Given the description of an element on the screen output the (x, y) to click on. 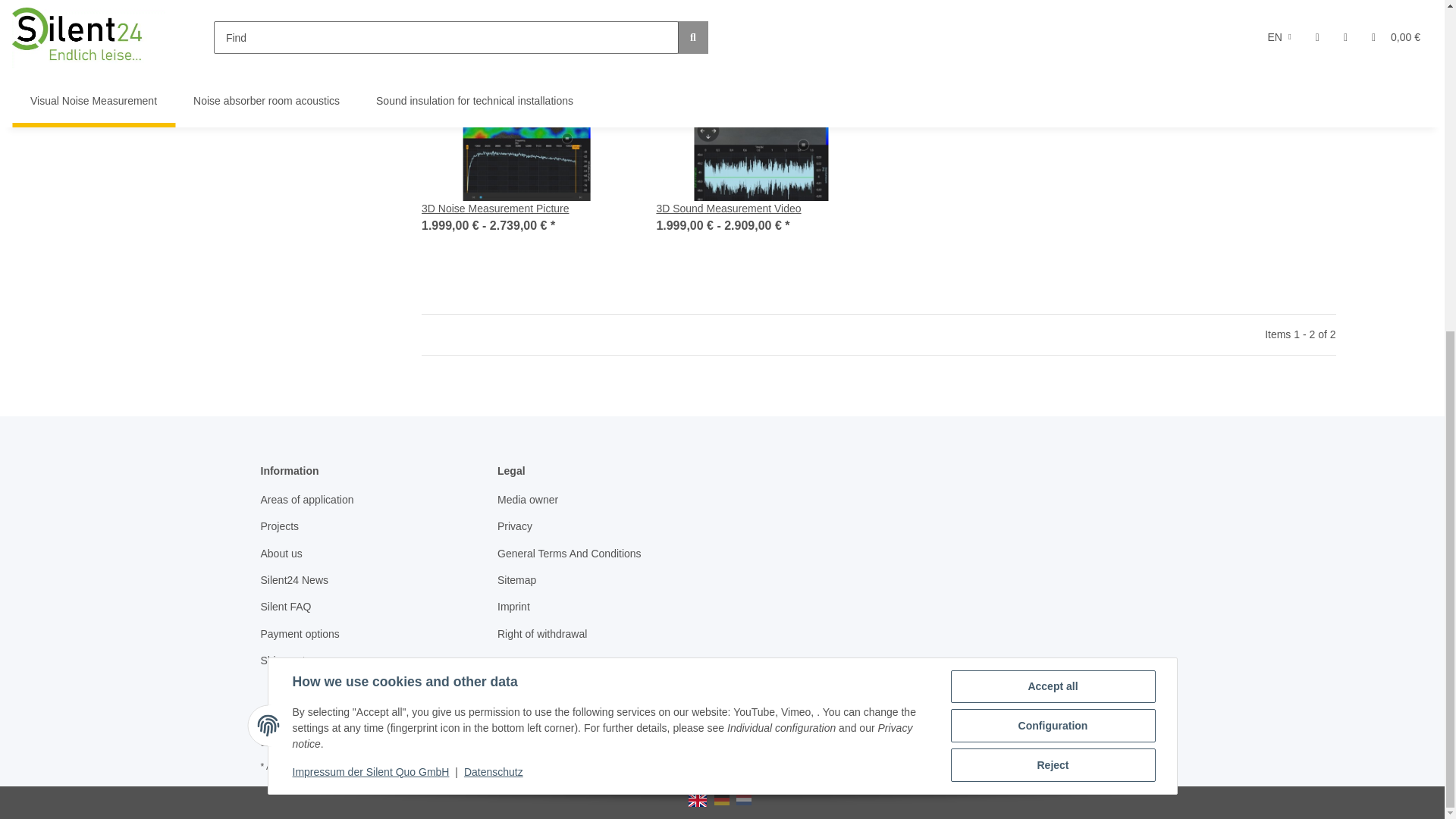
Facebook (276, 732)
YouTube (313, 732)
Instagram (350, 732)
